Given the description of an element on the screen output the (x, y) to click on. 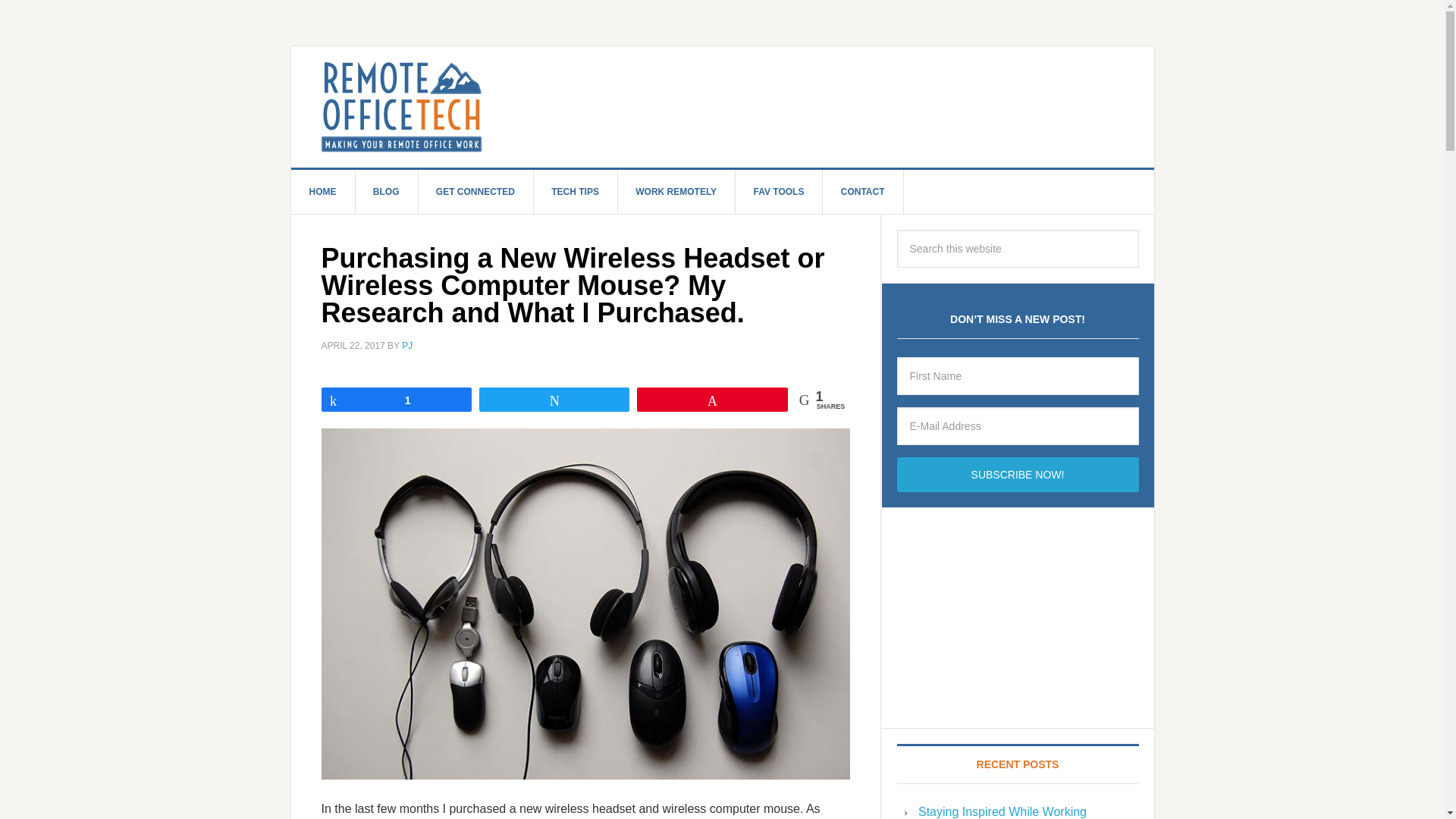
TECH TIPS (574, 191)
Advertisement (1017, 617)
FAV TOOLS (778, 191)
REMOTE OFFICE TECH (737, 106)
Subscribe Now! (1017, 474)
1 (395, 399)
BLOG (387, 191)
HOME (323, 191)
